Given the description of an element on the screen output the (x, y) to click on. 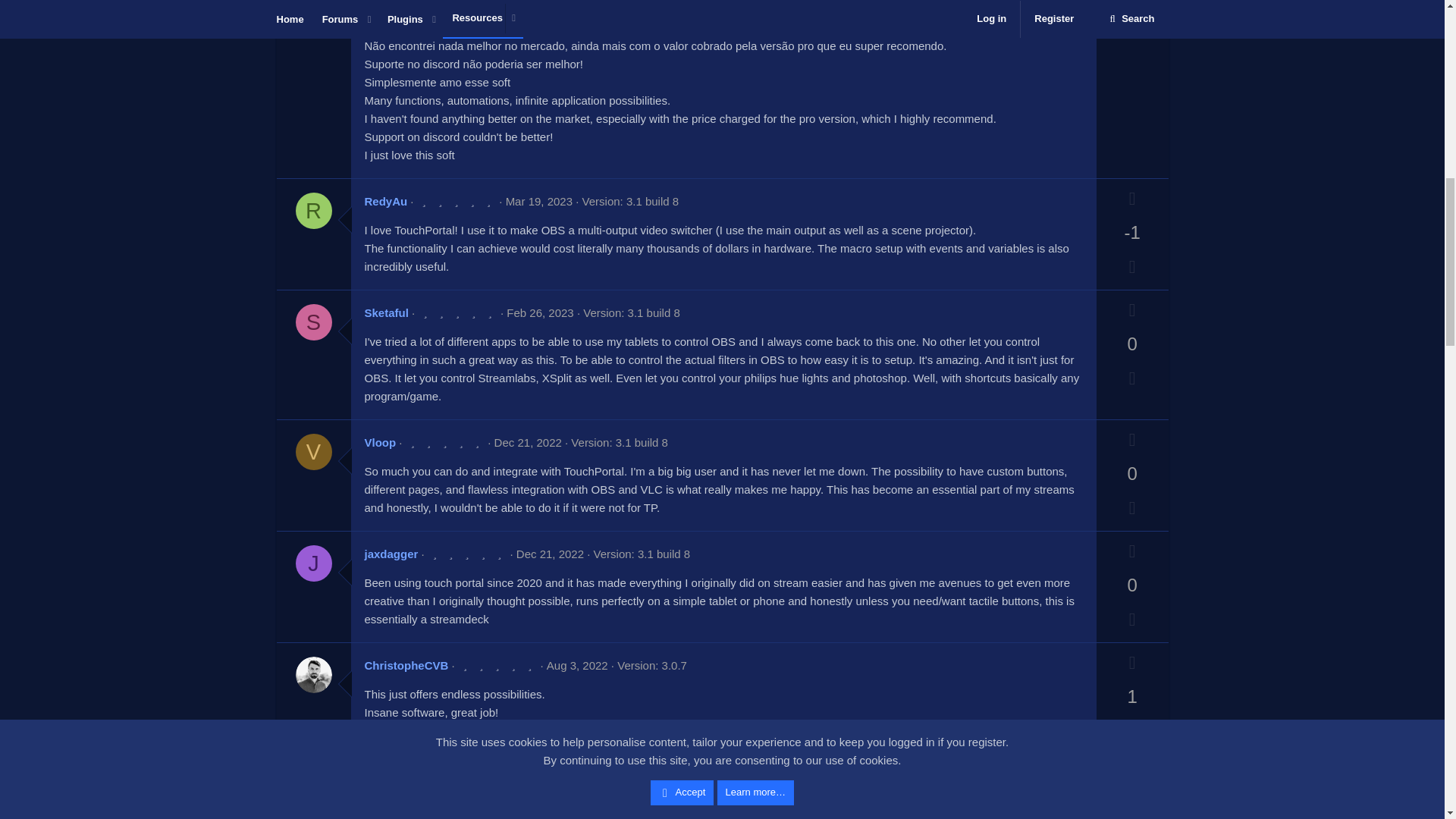
Dec 21, 2022 at 1:53 PM (528, 441)
Mar 19, 2023 at 1:30 PM (538, 201)
Feb 26, 2023 at 1:32 AM (539, 312)
Dec 21, 2022 at 1:14 PM (549, 553)
